Given the description of an element on the screen output the (x, y) to click on. 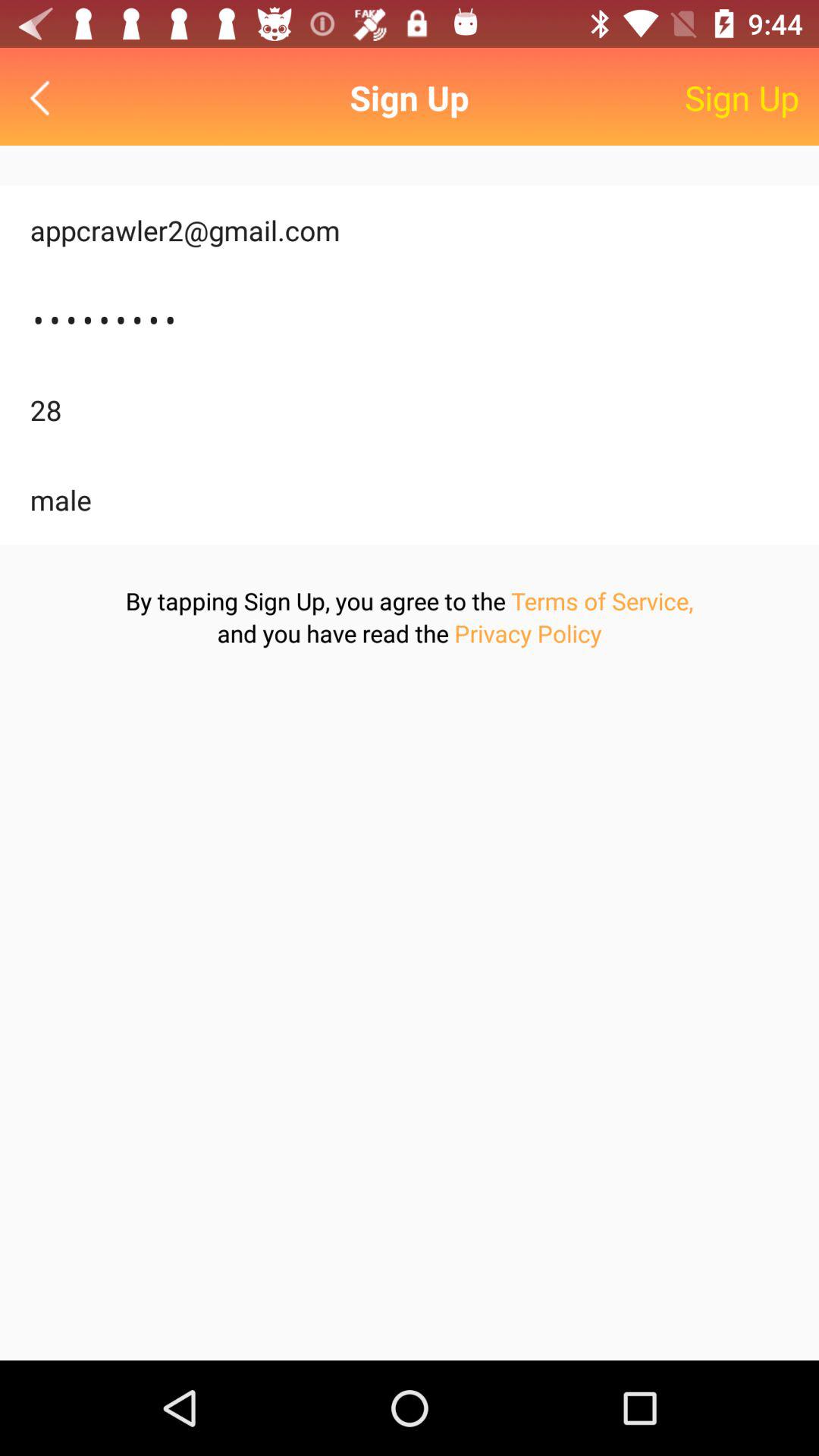
open item above 28 item (409, 320)
